Given the description of an element on the screen output the (x, y) to click on. 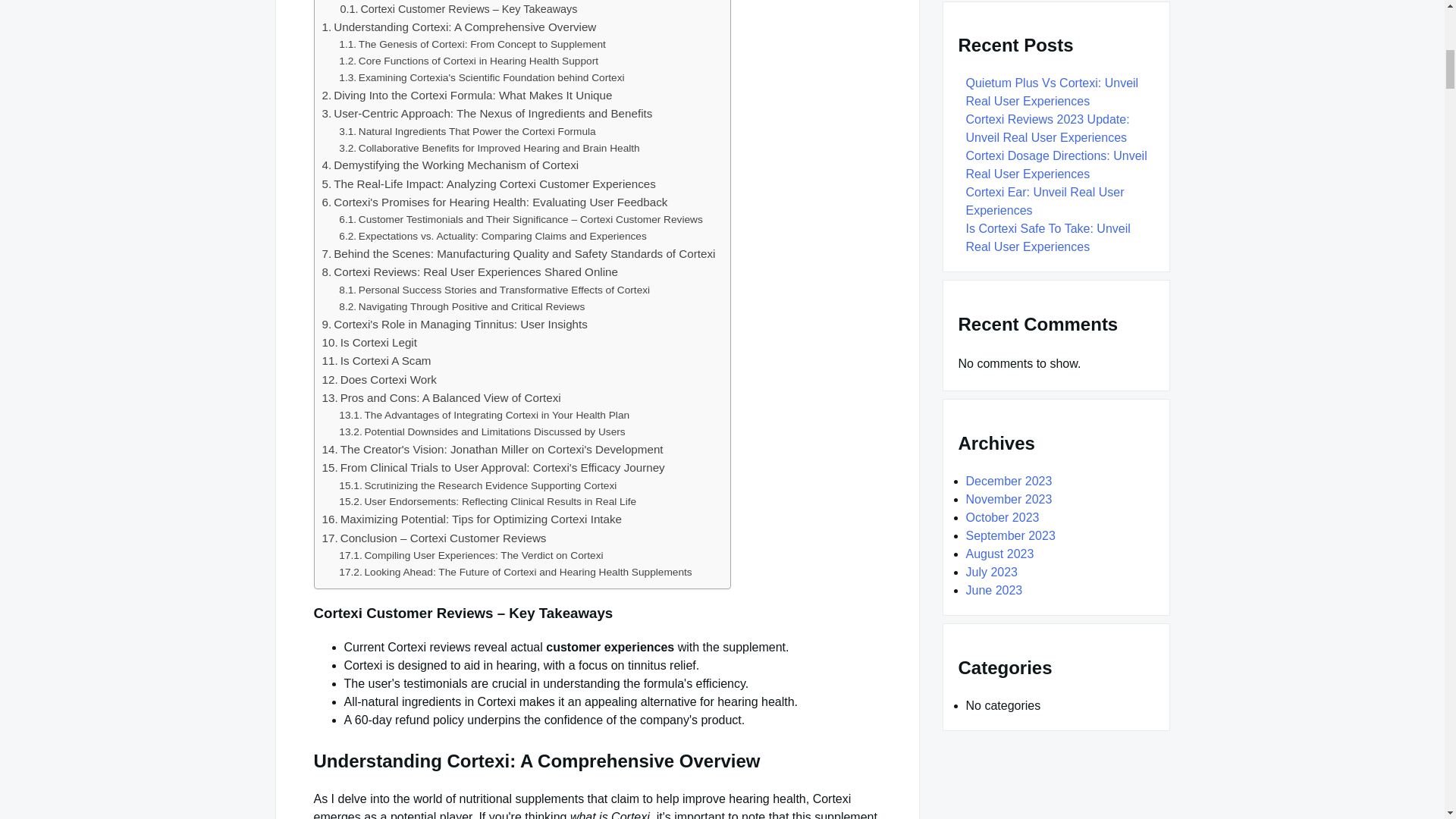
Is Cortexi Legit (368, 342)
Pros and Cons: A Balanced View of Cortexi (440, 398)
Core Functions of Cortexi in Hearing Health Support (468, 61)
Collaborative Benefits for Improved Hearing and Brain Health (489, 148)
Potential Downsides and Limitations Discussed by Users (481, 432)
The Real-Life Impact: Analyzing Cortexi Customer Experiences (488, 184)
Does Cortexi Work (378, 379)
Examining Cortexia's Scientific Foundation behind Cortexi (481, 77)
The Real-Life Impact: Analyzing Cortexi Customer Experiences (488, 184)
Is Cortexi A Scam (375, 361)
Demystifying the Working Mechanism of Cortexi (449, 165)
Demystifying the Working Mechanism of Cortexi (449, 165)
